Given the description of an element on the screen output the (x, y) to click on. 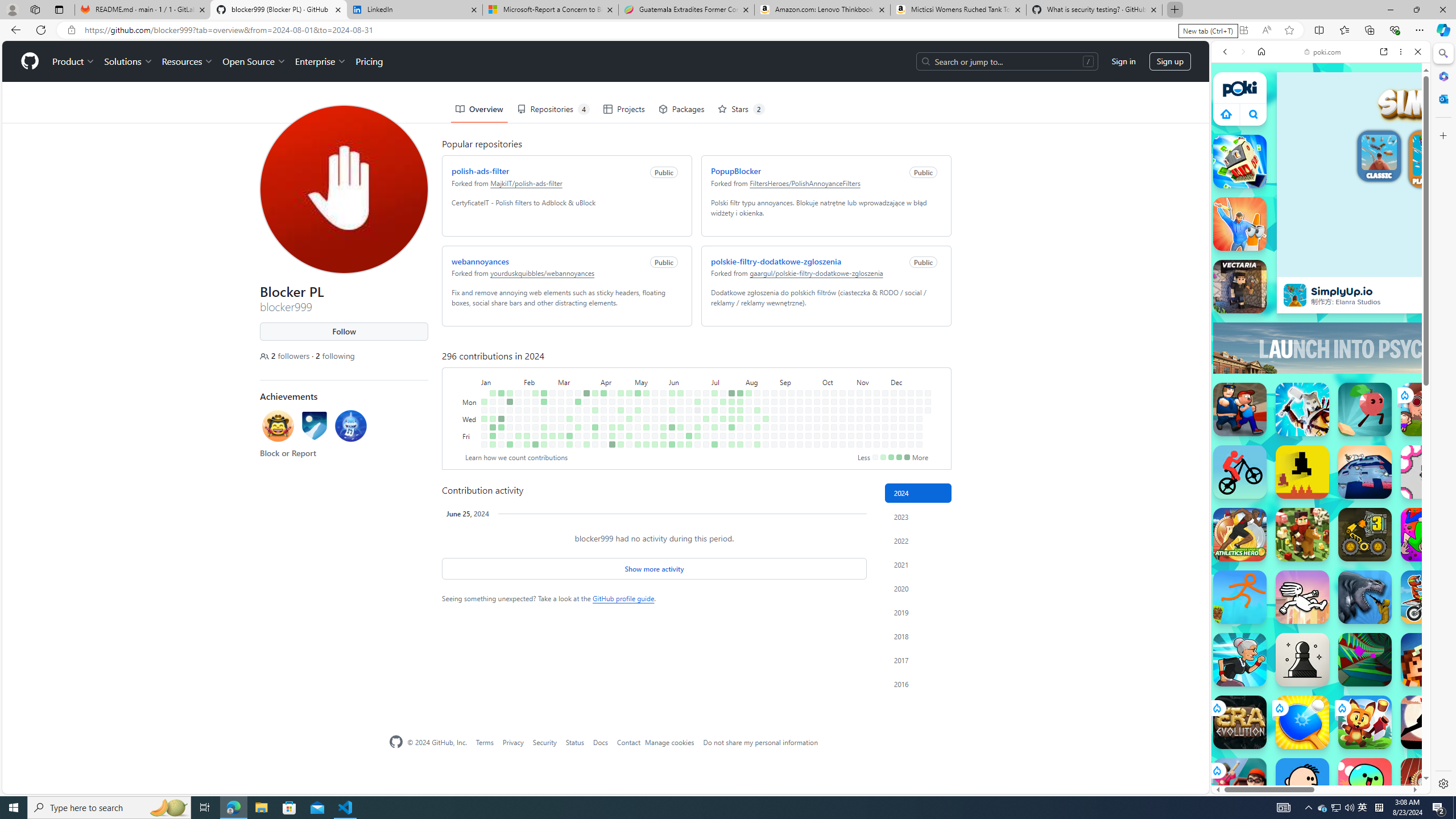
Contribution activity in 2024 (917, 492)
No contributions on September 20th. (799, 435)
No contributions on September 12th. (790, 427)
No contributions on June 3rd. (671, 401)
1 contribution on February 9th. (526, 435)
Narrow.One Narrow.One (1302, 409)
JollyWorld JollyWorld (1427, 534)
Contribution activity in 2022 (917, 540)
Achievement: Pull Shark (351, 427)
2 following (335, 355)
No contributions on August 6th. (748, 410)
Hills of Steel Hills of Steel poki.com (1264, 548)
Car Games (1320, 267)
Stickman Bike (1239, 471)
No contributions on January 20th. (500, 444)
